Given the description of an element on the screen output the (x, y) to click on. 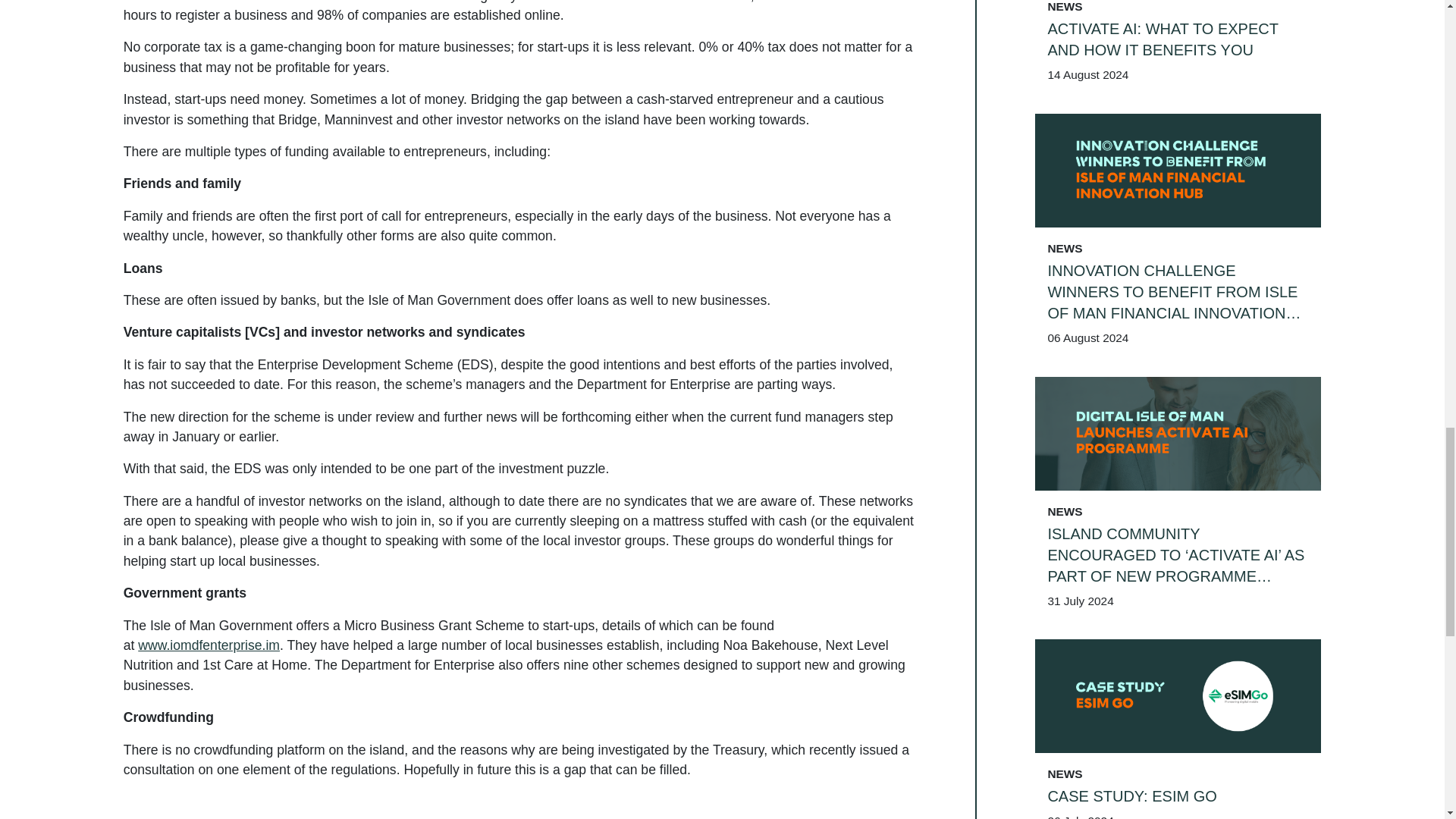
SEE MORE NEWS (1177, 148)
www.iomdfenterprise.im (208, 645)
